Given the description of an element on the screen output the (x, y) to click on. 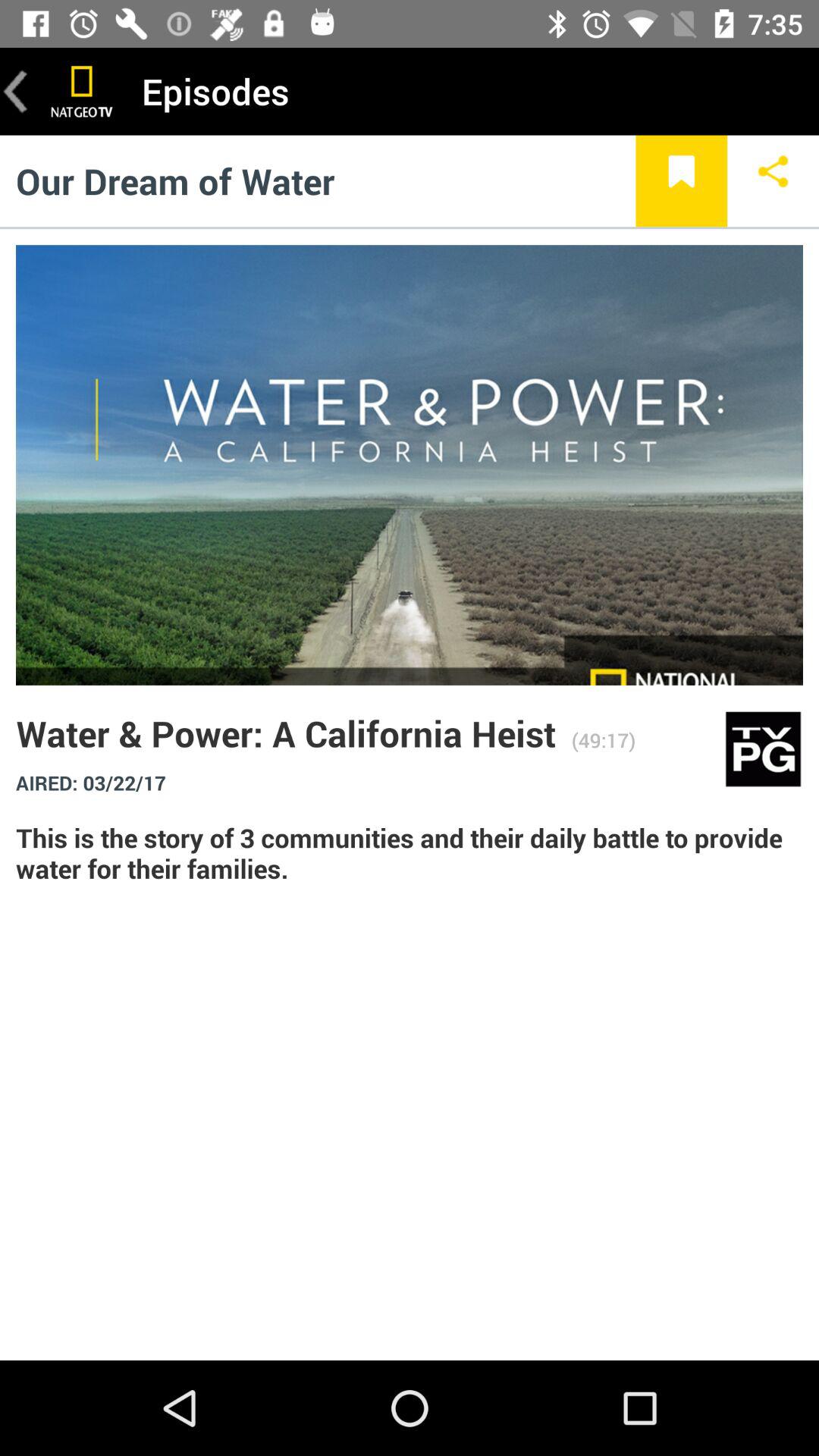
print screen option (81, 91)
